Given the description of an element on the screen output the (x, y) to click on. 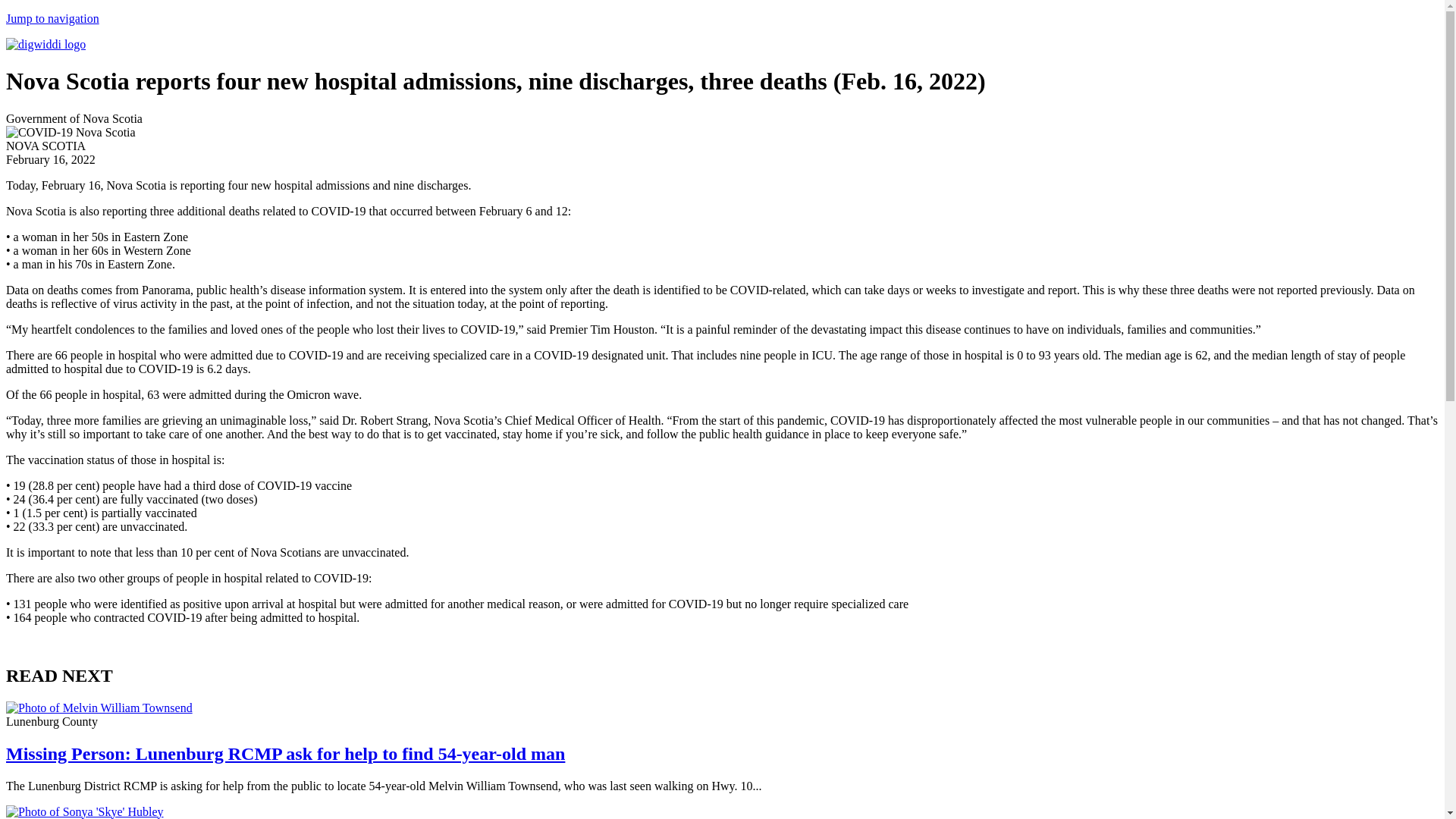
Jump to navigation (52, 18)
Melvin William Townsend (98, 707)
COVID-19 Nova Scotia (70, 132)
Sonya 'Skye' Hubley (84, 812)
